Given the description of an element on the screen output the (x, y) to click on. 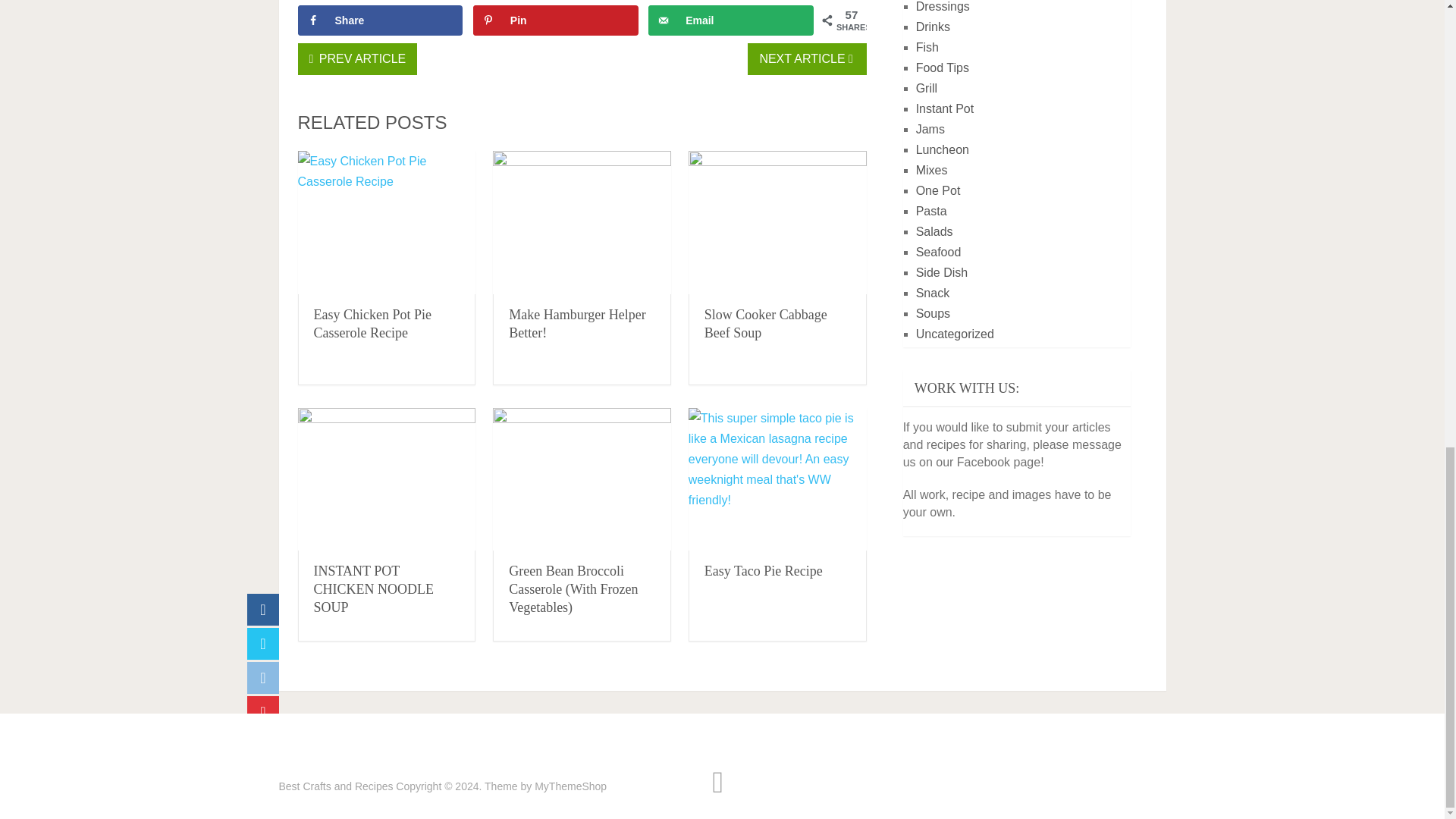
Make Hamburger Helper Better! (582, 222)
Make Hamburger Helper Better! (577, 323)
INSTANT POT CHICKEN NOODLE SOUP (386, 479)
Save to Pinterest (556, 20)
Slow Cooker Cabbage Beef Soup (765, 323)
Easy Chicken Pot Pie Casserole Recipe (373, 323)
NEXT ARTICLE (807, 59)
PREV ARTICLE (356, 59)
Slow Cooker Cabbage Beef Soup (765, 323)
Make Hamburger Helper Better! (577, 323)
Pin (556, 20)
Share on Facebook (380, 20)
INSTANT POT CHICKEN NOODLE SOUP (373, 589)
Slow Cooker Cabbage Beef Soup (777, 222)
Share (380, 20)
